Given the description of an element on the screen output the (x, y) to click on. 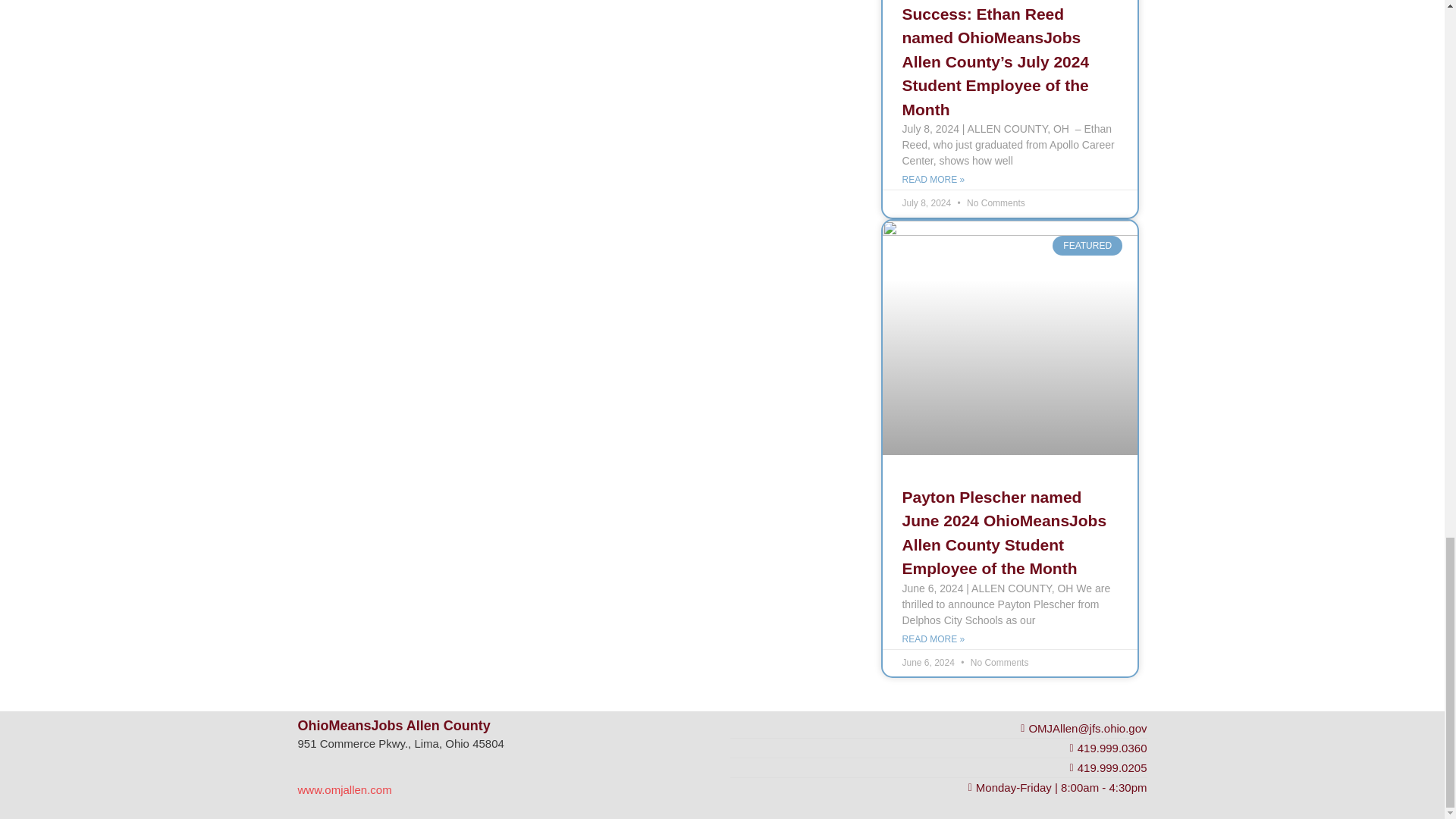
www.omjallen.com (344, 790)
